Given the description of an element on the screen output the (x, y) to click on. 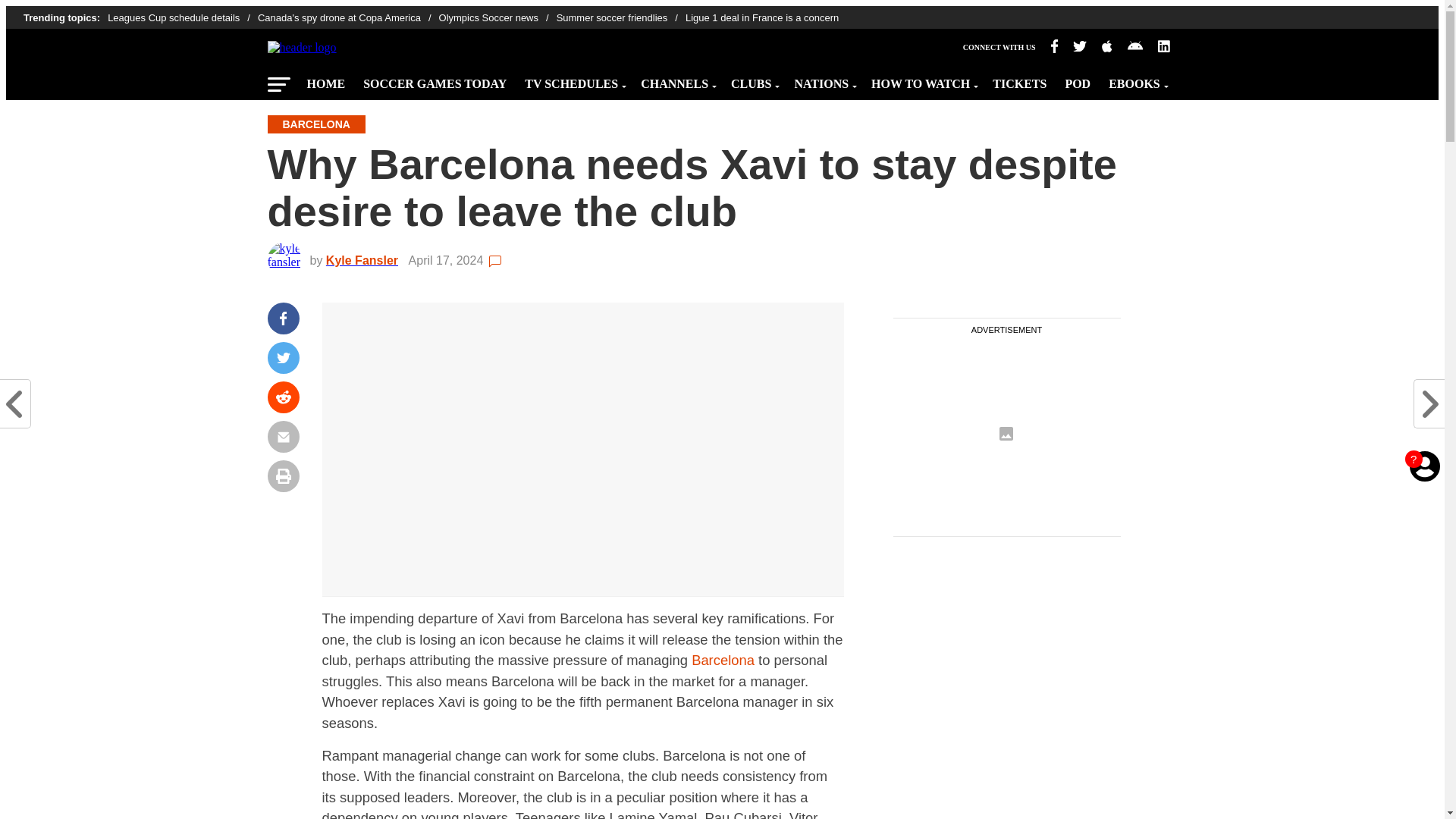
POD (1077, 80)
Canada's spy drone at Copa America (348, 17)
HOW TO WATCH (922, 80)
Summer soccer friendlies (620, 17)
Olympics Soccer news (497, 17)
Leagues Cup schedule details (182, 17)
TV SCHEDULES (573, 80)
CHANNELS (676, 80)
Ligue 1 deal in France is a concern (761, 17)
Kyle Fansler (366, 259)
TICKETS (1019, 80)
NATIONS (822, 80)
EBOOKS (1136, 80)
Barcelona (722, 659)
SOCCER GAMES TODAY (434, 80)
